Given the description of an element on the screen output the (x, y) to click on. 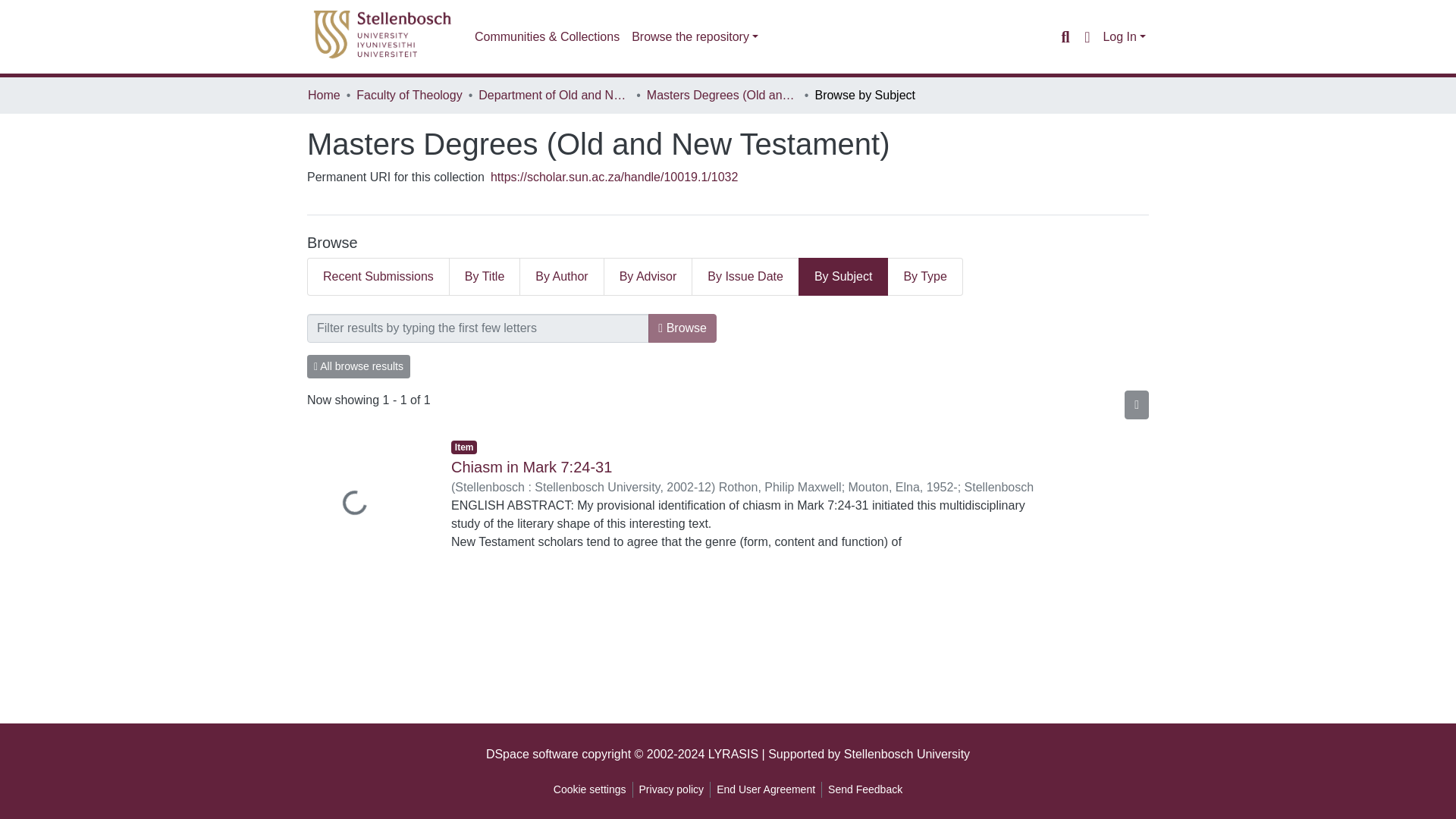
By Type (925, 276)
Browse (681, 328)
All browse results (358, 366)
Faculty of Theology (408, 95)
Log In (1123, 36)
By Issue Date (746, 276)
By Author (561, 276)
By Advisor (648, 276)
Browse the repository (695, 37)
Recent Submissions (378, 276)
